Given the description of an element on the screen output the (x, y) to click on. 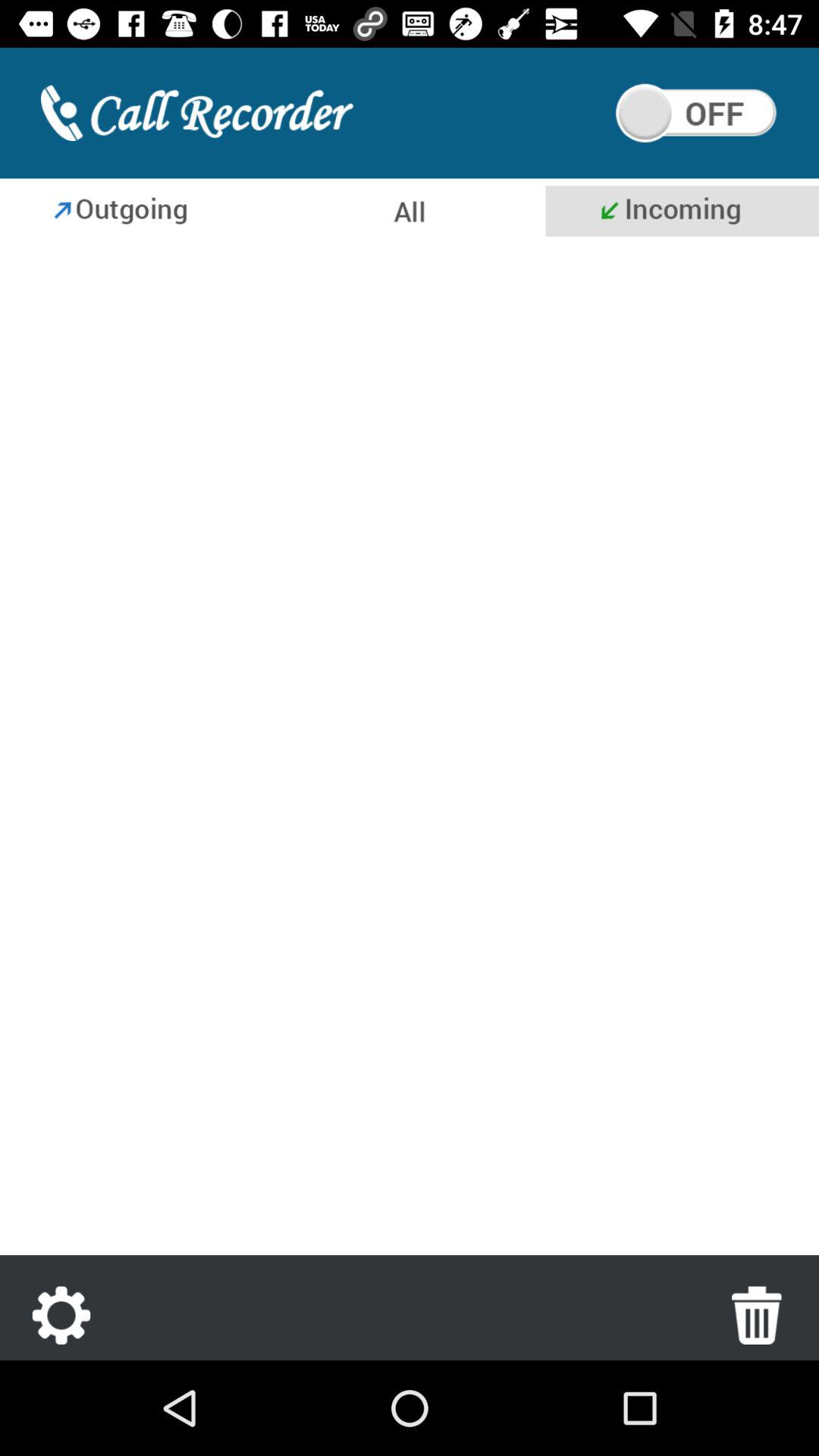
incoming buttton (681, 210)
